Given the description of an element on the screen output the (x, y) to click on. 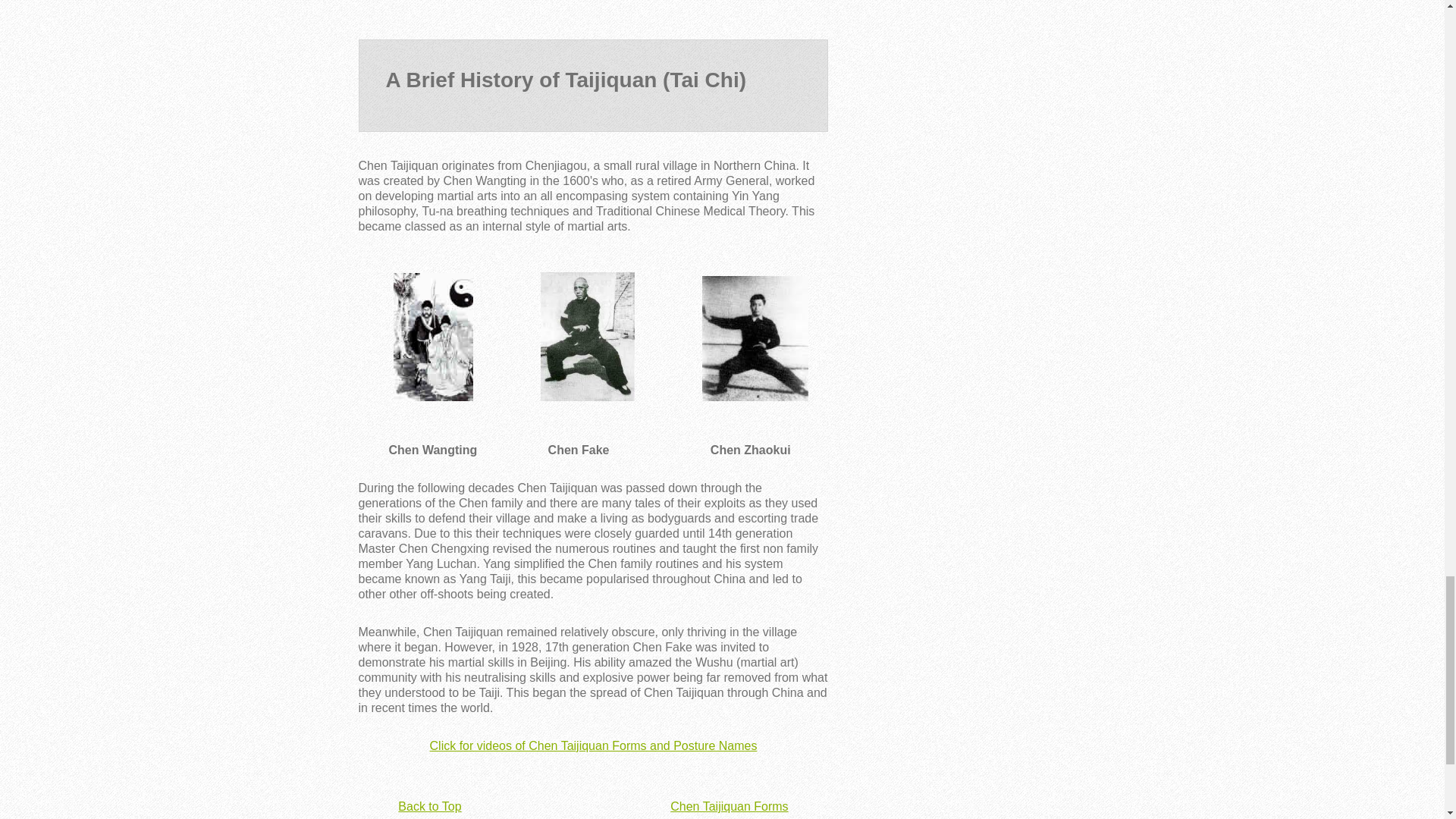
Click for videos of Chen Taijiquan Forms and Posture Names (593, 745)
Back to Top (429, 806)
Chen Taijiquan Forms (728, 806)
